Given the description of an element on the screen output the (x, y) to click on. 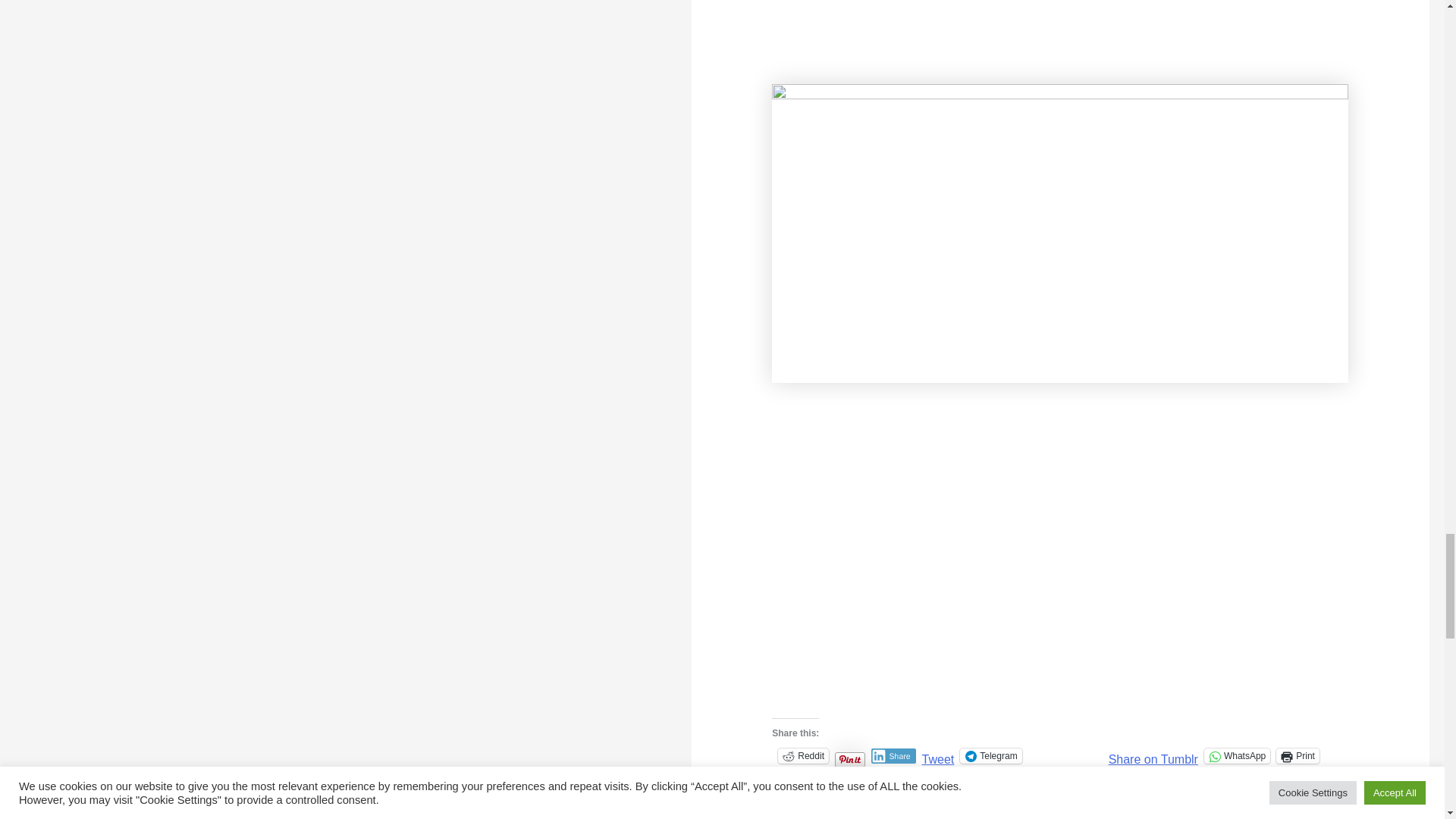
Click to email a link to a friend (794, 778)
Click to share on Reddit (802, 755)
Share on Tumblr (1153, 755)
Click to share on WhatsApp (1236, 755)
Click to print (1297, 755)
Click to share on Telegram (990, 755)
